Given the description of an element on the screen output the (x, y) to click on. 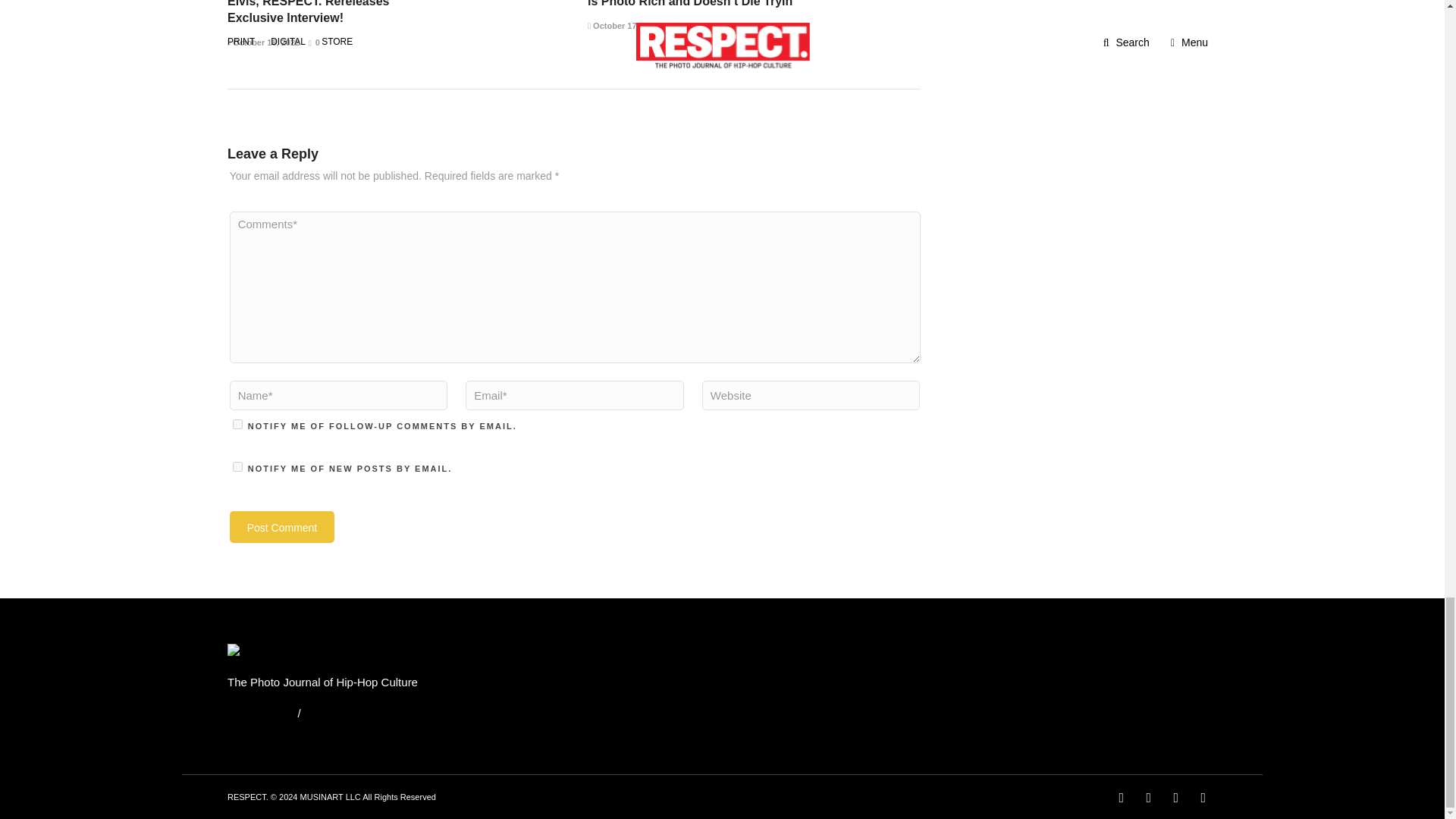
subscribe (237, 424)
subscribe (237, 466)
Post Comment (282, 526)
